Given the description of an element on the screen output the (x, y) to click on. 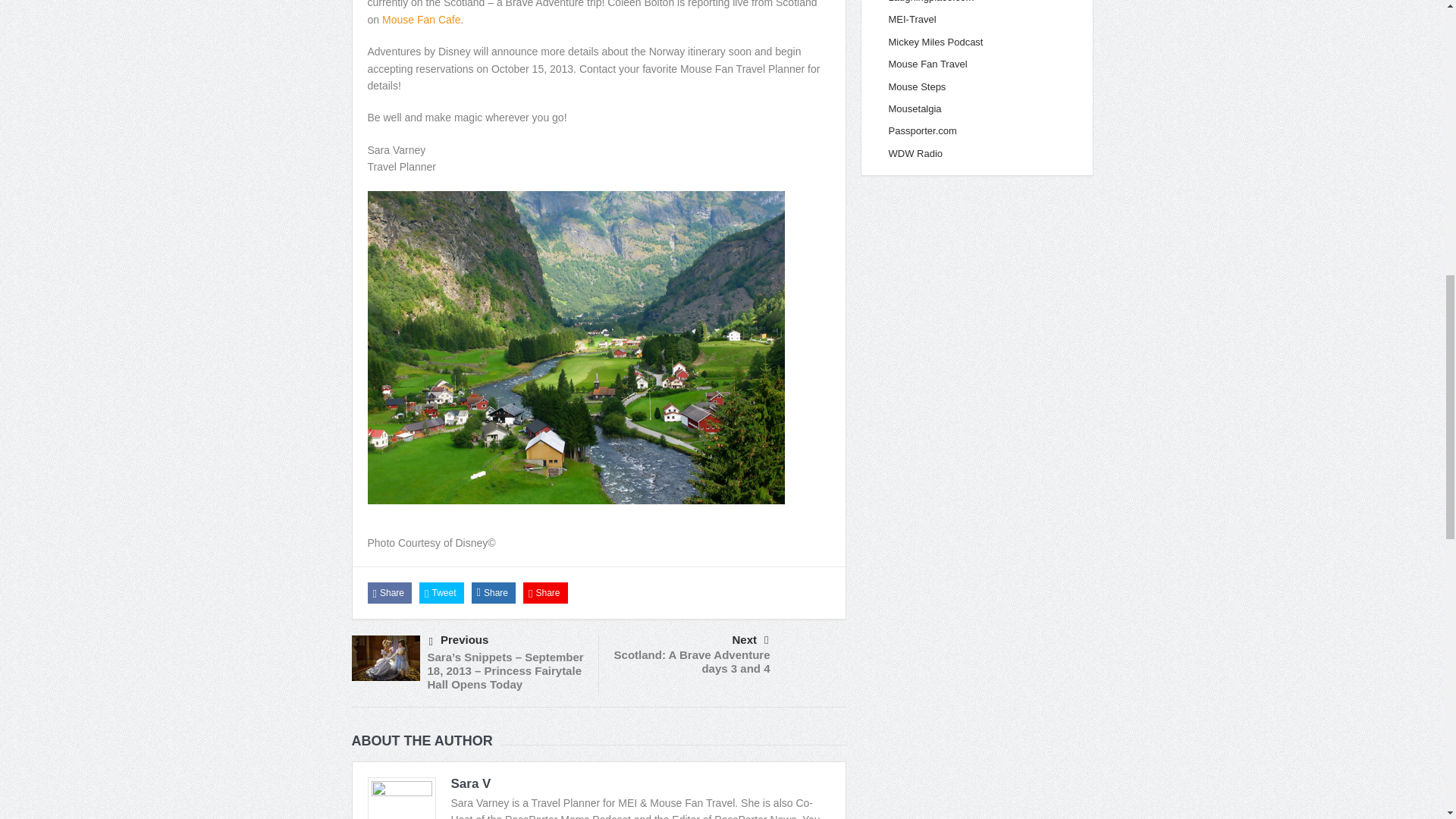
Sara V (469, 783)
Next (690, 639)
Scotland: A Brave Adventure days 3 and 4 (692, 661)
Mouse Fan Cafe (421, 19)
Previous (508, 640)
